Given the description of an element on the screen output the (x, y) to click on. 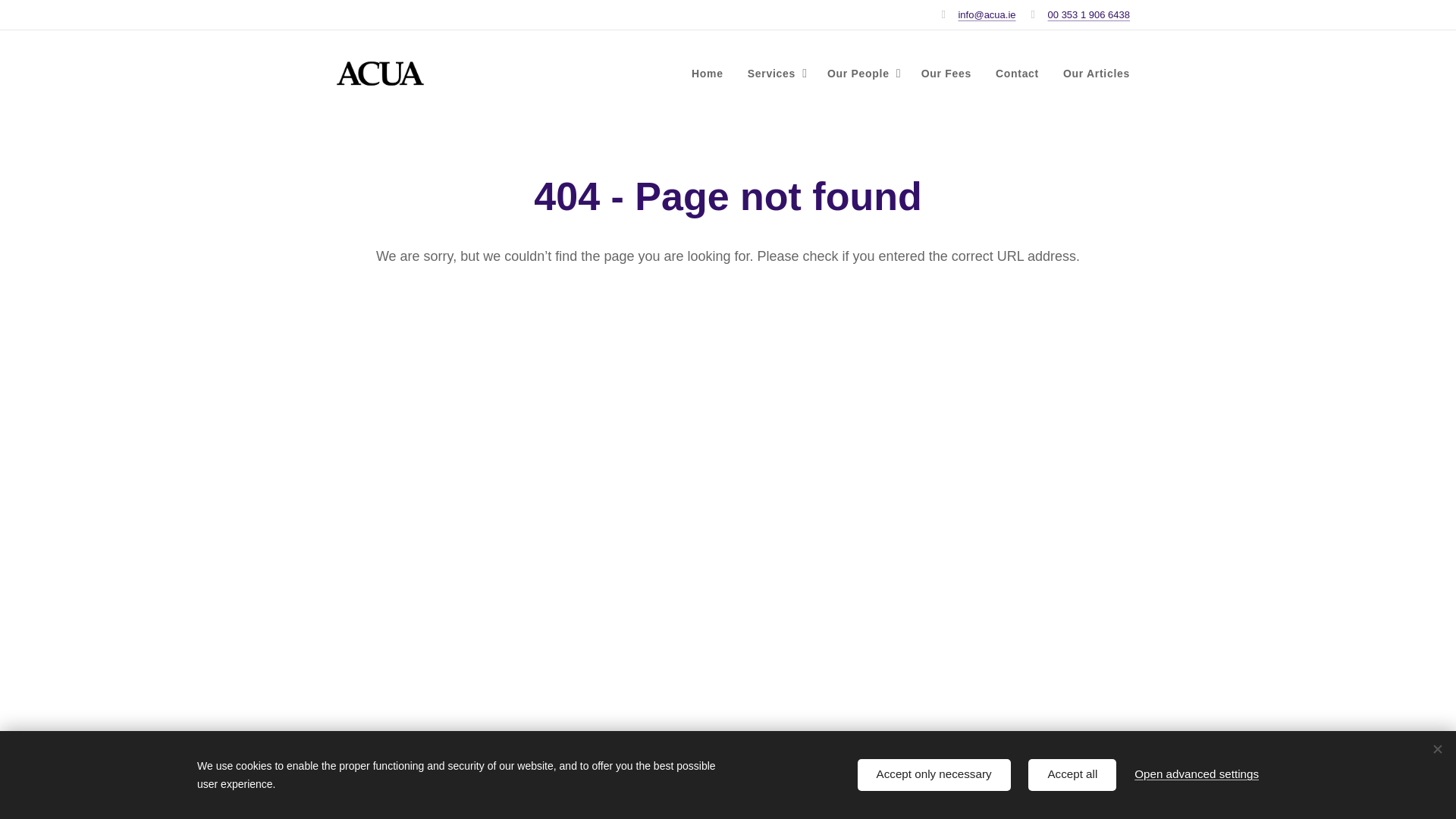
Contact (1017, 73)
Services (775, 73)
00 353 1 906 6438 (1088, 14)
Our Articles (1090, 73)
Open advanced settings (1196, 774)
Our Fees (946, 73)
Our People (861, 73)
Home (711, 73)
Accept only necessary (933, 774)
Accept all (1071, 774)
